Given the description of an element on the screen output the (x, y) to click on. 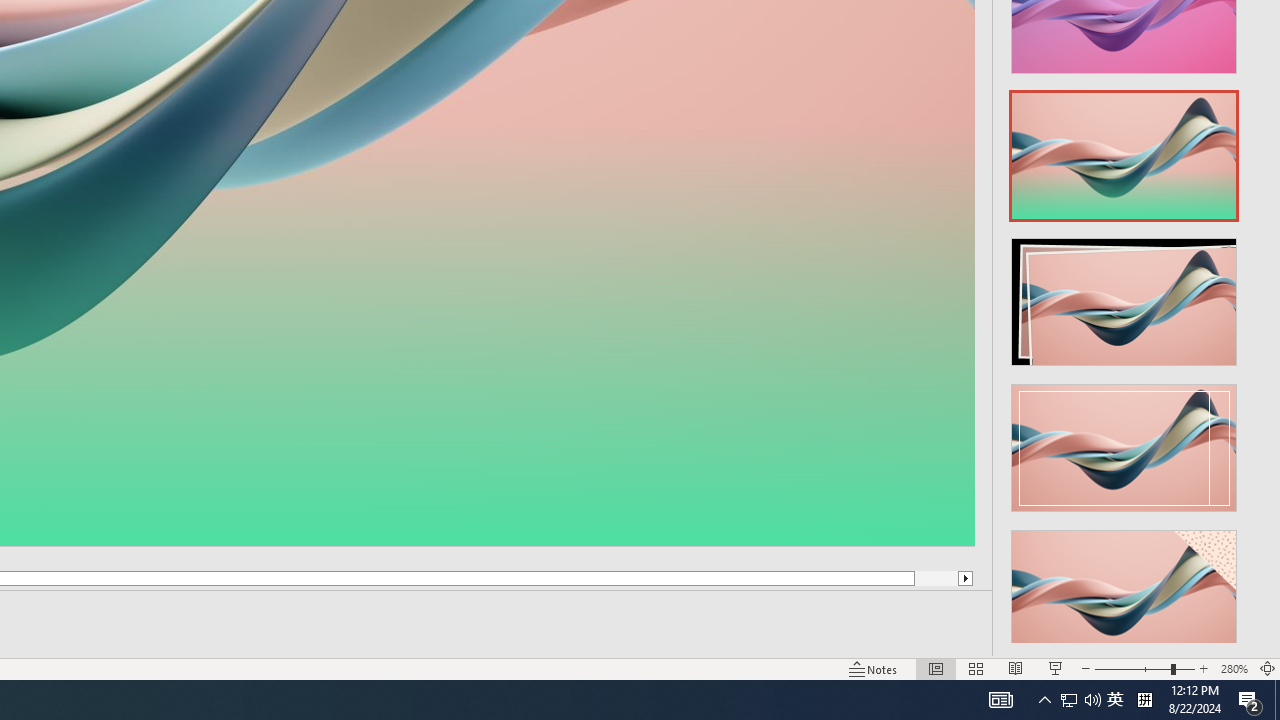
Zoom 280% (1234, 668)
